Given the description of an element on the screen output the (x, y) to click on. 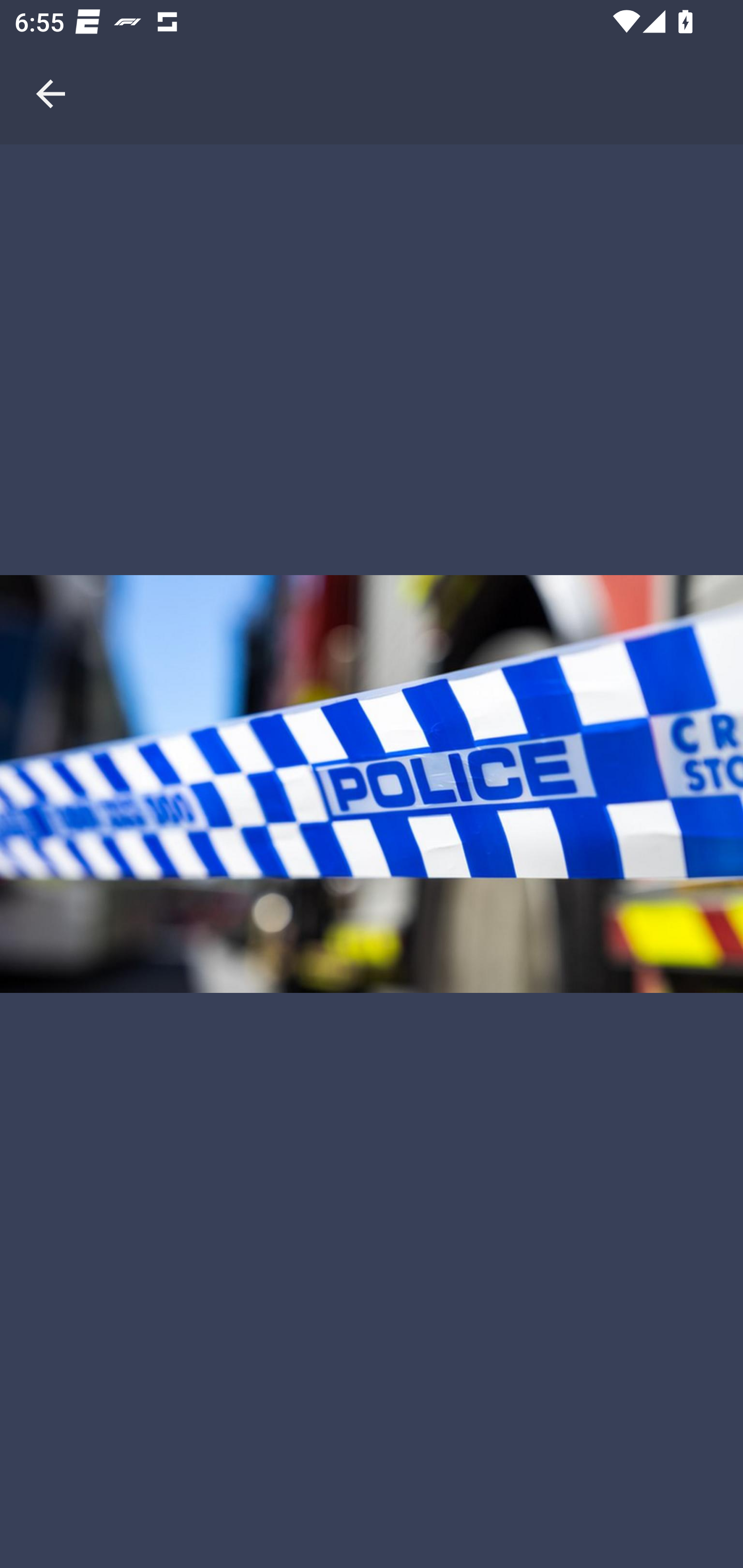
Back (50, 72)
